Given the description of an element on the screen output the (x, y) to click on. 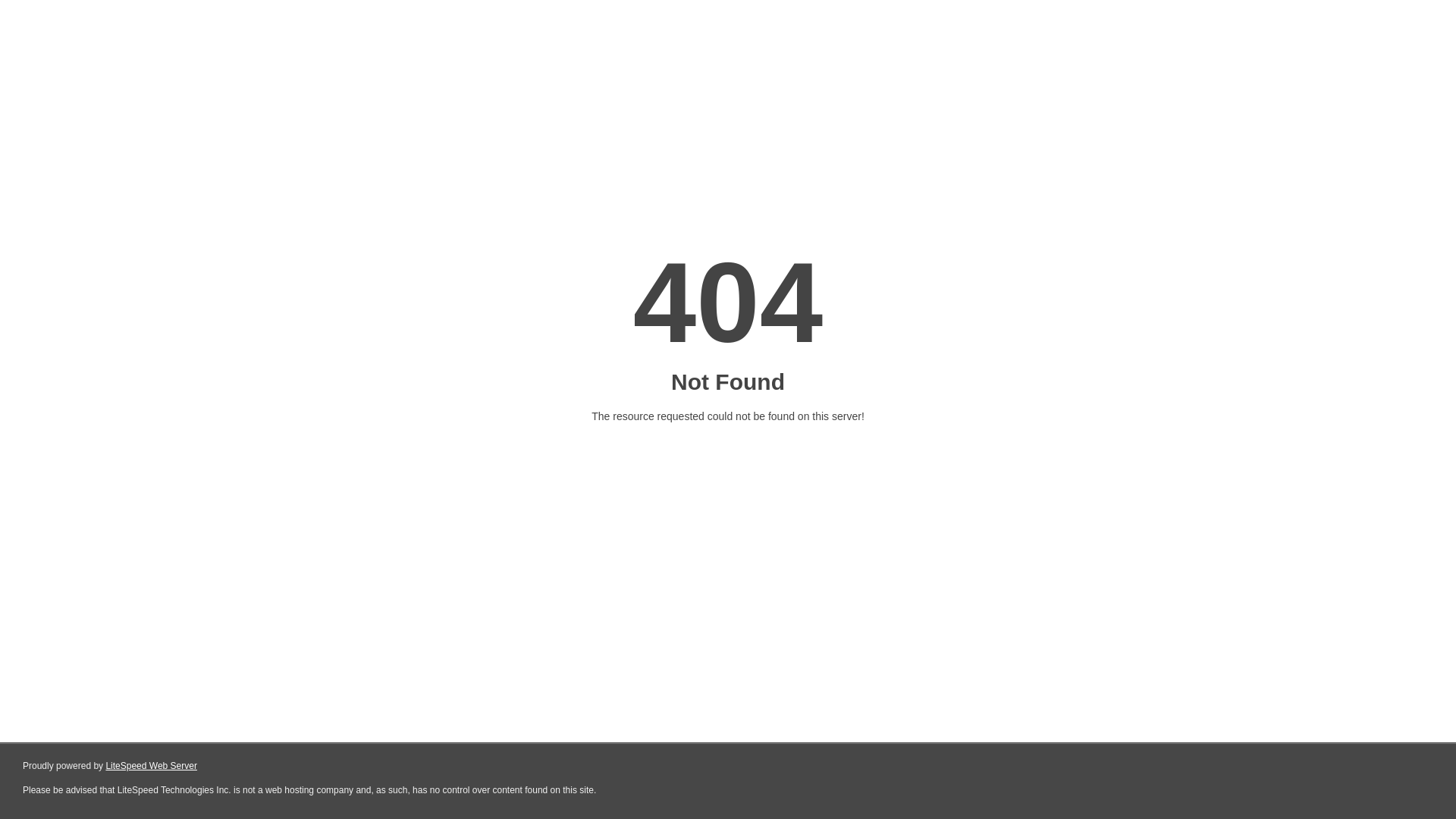
LiteSpeed Web Server Element type: text (151, 765)
